Given the description of an element on the screen output the (x, y) to click on. 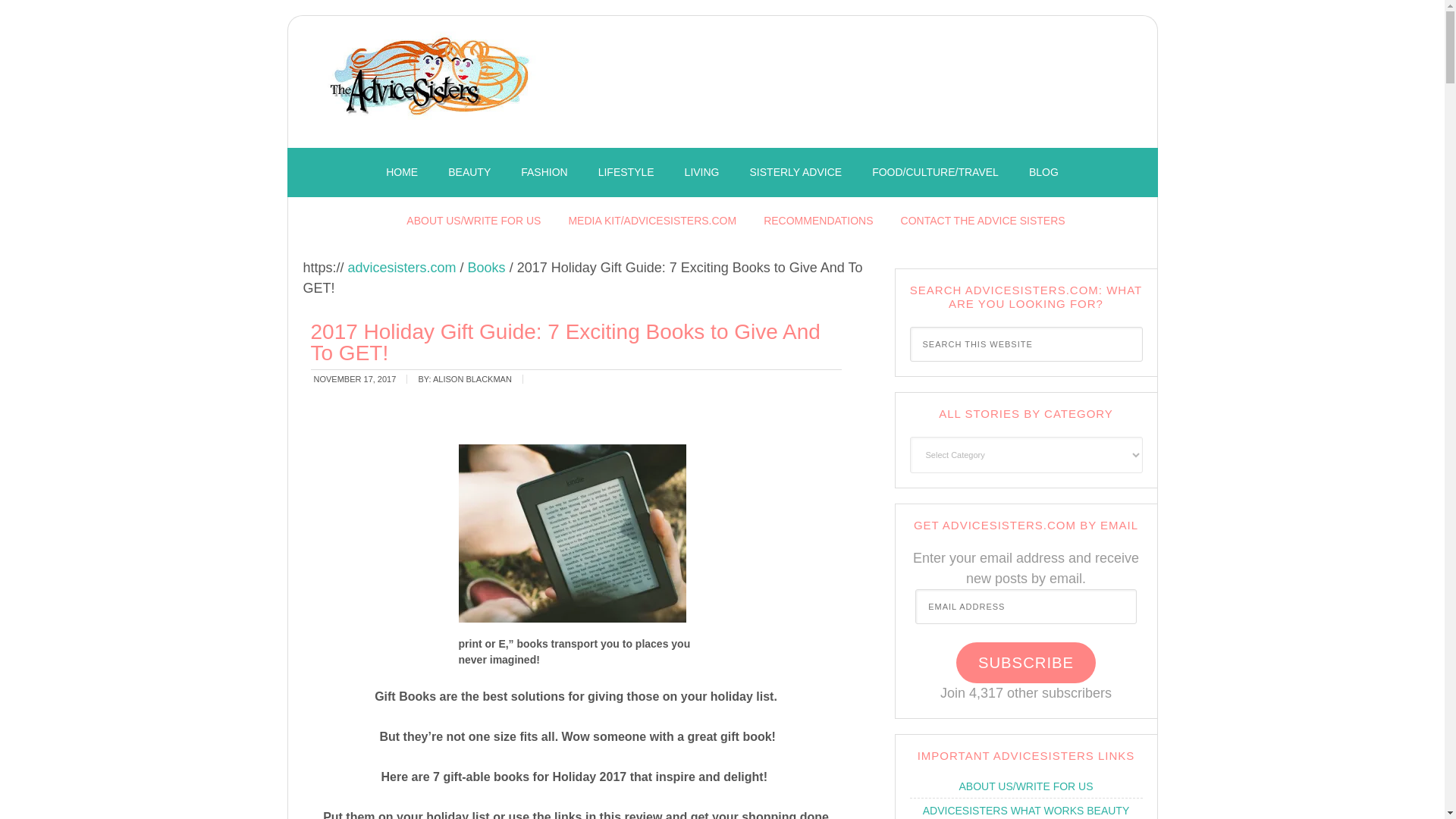
advicesisters.com Has Ideas for life, love and happiness (432, 85)
SISTERLY ADVICE (796, 172)
LIVING (702, 172)
Contact (982, 220)
FASHION (543, 172)
RECOMMENDATIONS (817, 220)
BEAUTY (468, 172)
LIFESTYLE (626, 172)
BLOG (1043, 172)
